Given the description of an element on the screen output the (x, y) to click on. 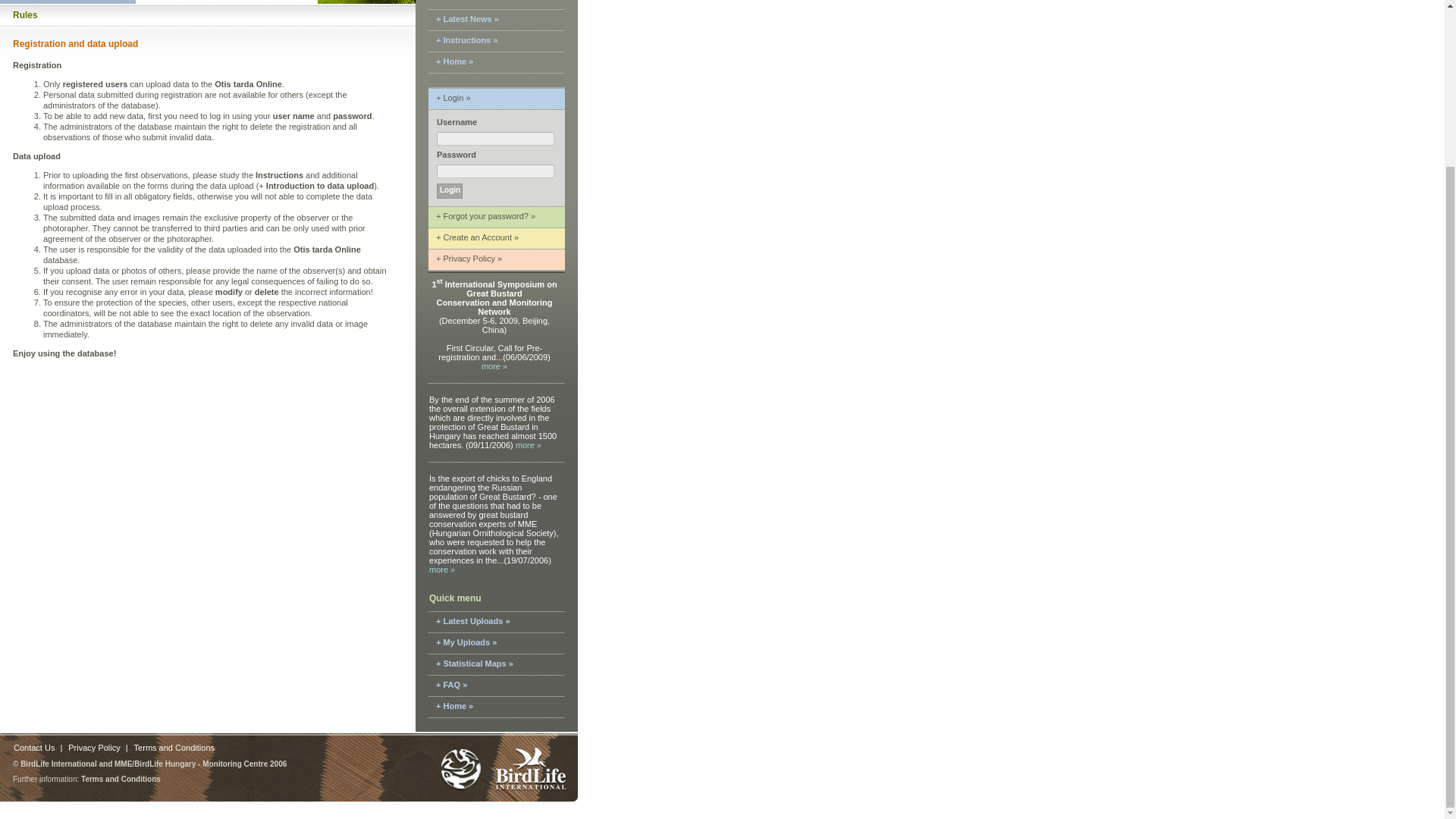
Privacy Policy (93, 747)
Login (449, 191)
Terms and Conditions (173, 747)
Login (449, 191)
Contact Us (33, 747)
